Given the description of an element on the screen output the (x, y) to click on. 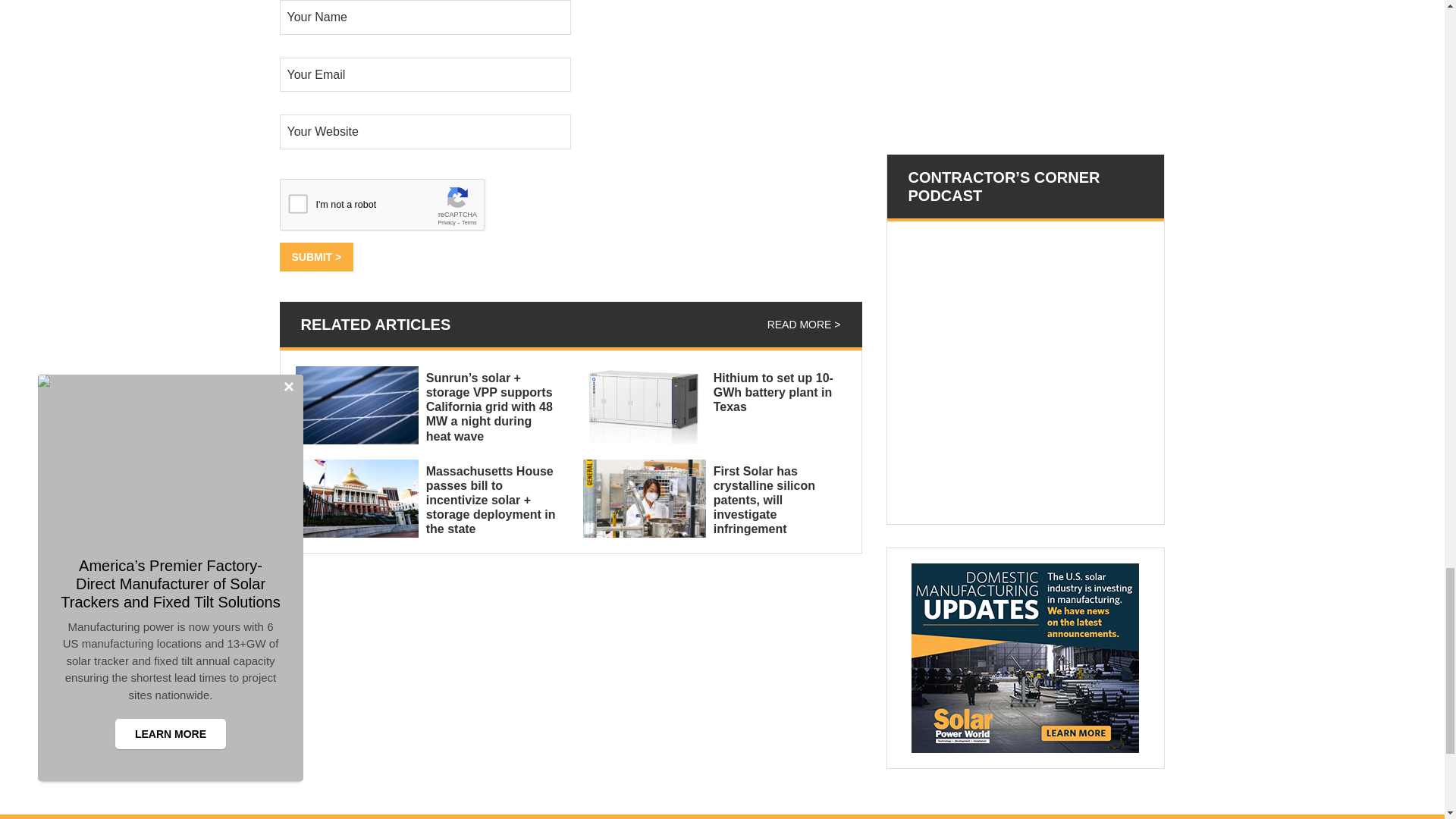
reCAPTCHA (394, 208)
3rd party ad content (999, 65)
